Given the description of an element on the screen output the (x, y) to click on. 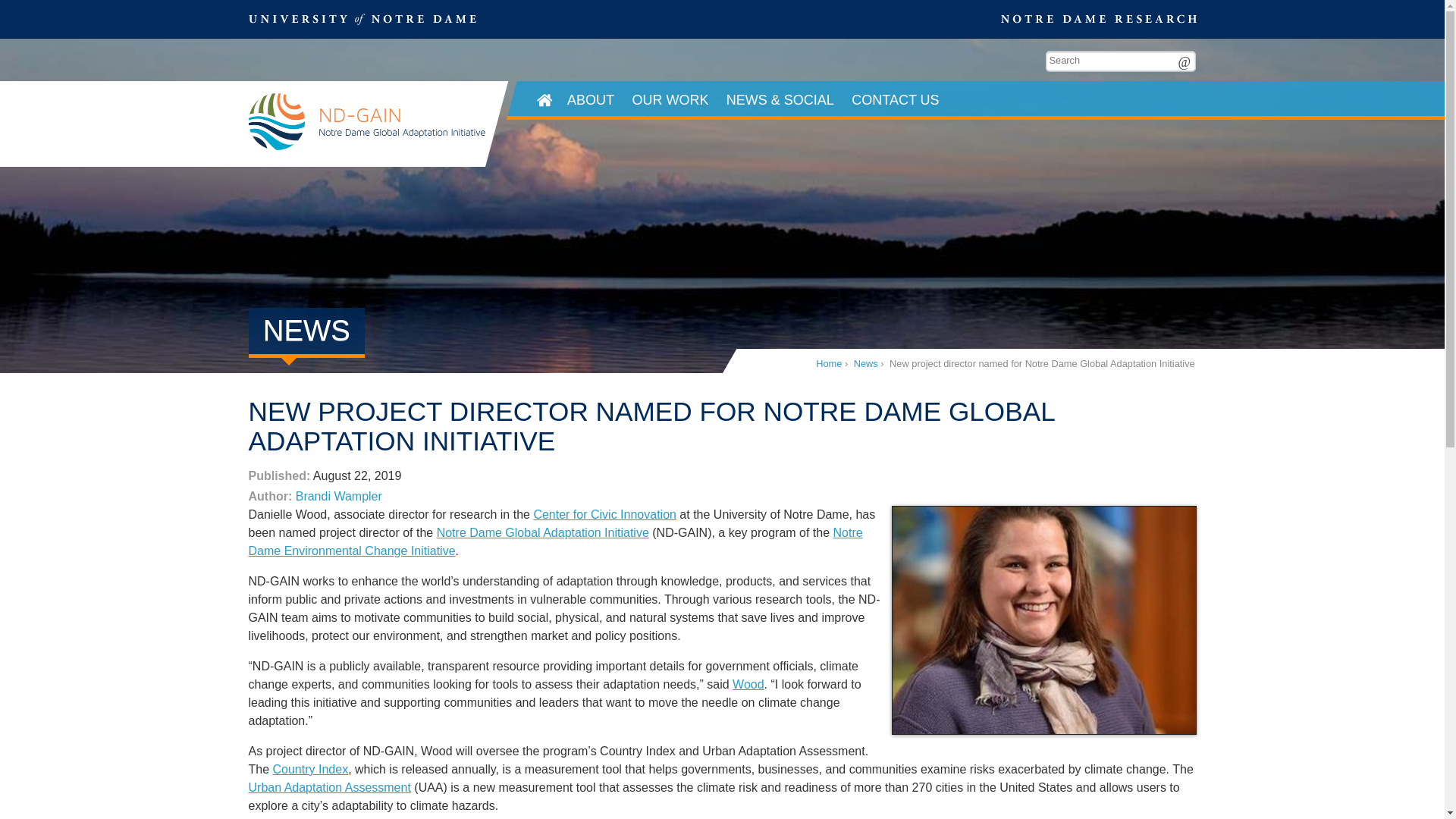
Home (828, 363)
NOTRE DAME GLOBAL ADAPTATION INITIATIVE (366, 123)
University Notre Dame (362, 18)
Notre Dame Environmental Change Initiative (555, 541)
News (865, 363)
Brandi Wampler (338, 495)
Search (1184, 60)
Wood (748, 684)
Urban Adaptation Assessment (329, 787)
CONTACT US (896, 100)
Notre Dame Global Adaptation Initiative (542, 532)
Country Index (311, 768)
OUR WORK (670, 100)
Center for Civic Innovation (604, 513)
ABOUT (590, 100)
